Given the description of an element on the screen output the (x, y) to click on. 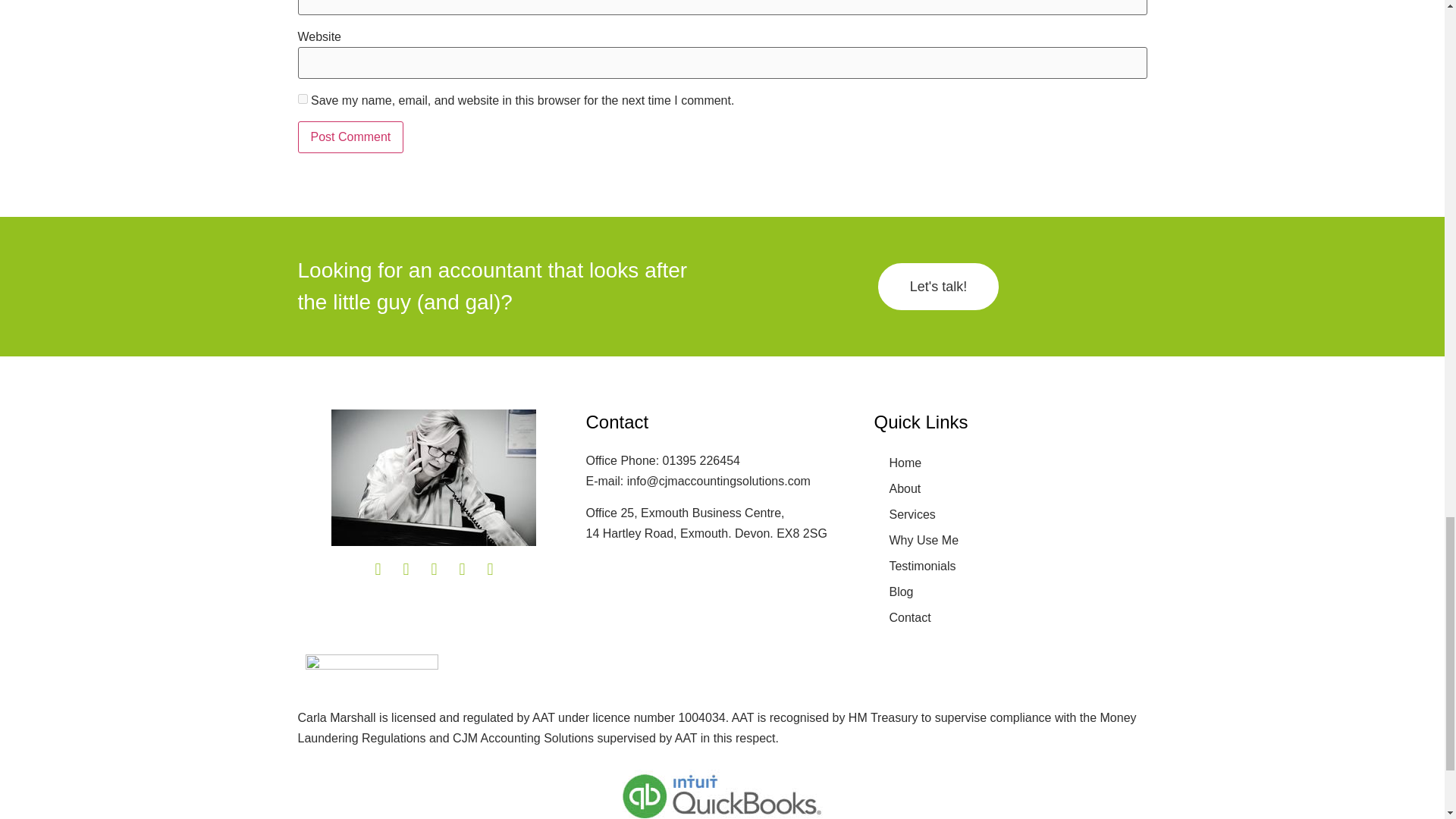
Post Comment (350, 137)
01395 226454 (700, 460)
About (1010, 488)
Services (1010, 514)
Testimonials (1010, 566)
Let's talk! (937, 286)
Why Use Me (1010, 540)
Post Comment (350, 137)
yes (302, 99)
Home (1010, 462)
